Given the description of an element on the screen output the (x, y) to click on. 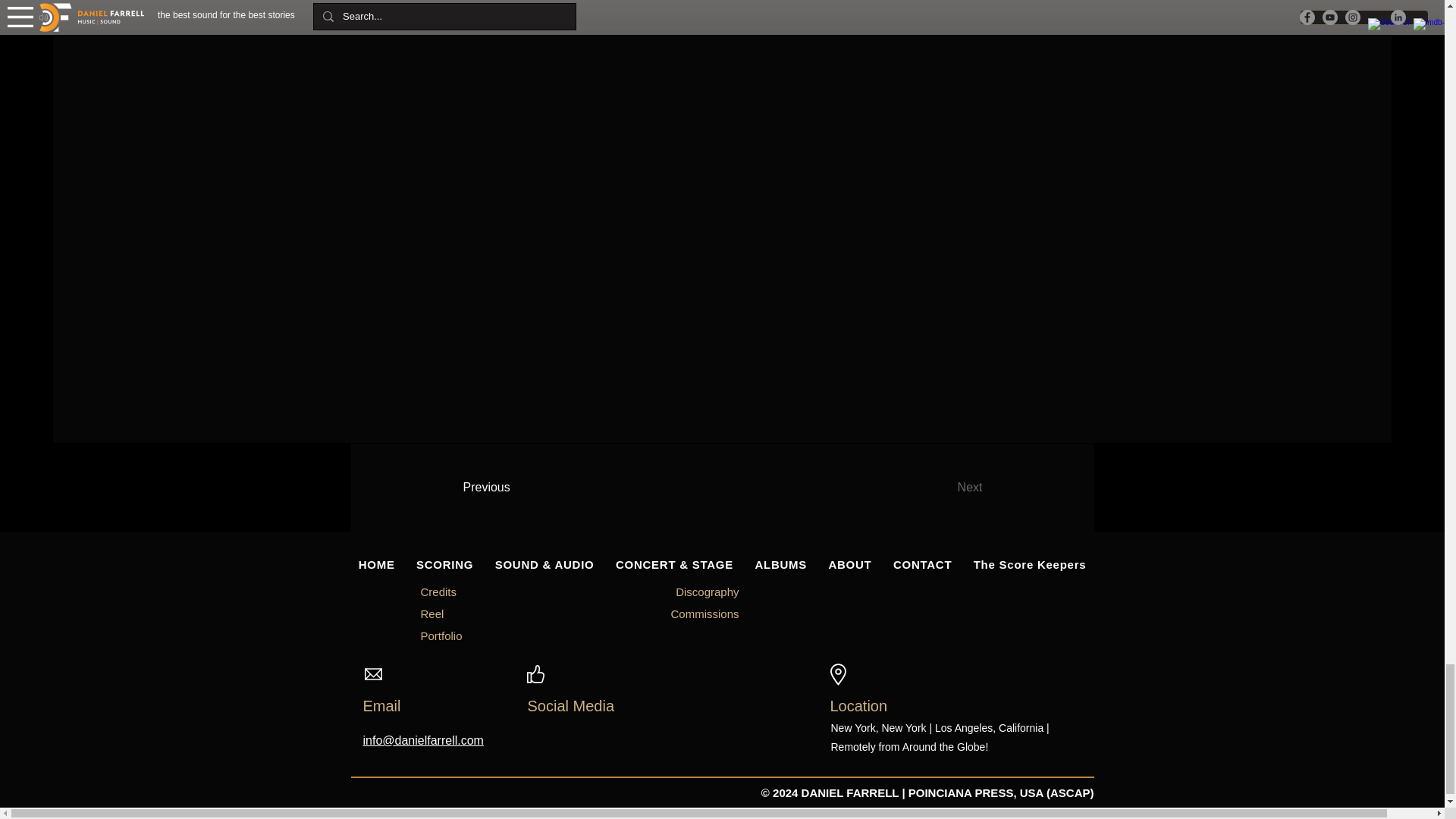
SCORING (445, 564)
The Score Keepers (1030, 564)
ALBUMS (779, 564)
HOME (375, 564)
Next (930, 487)
ABOUT (850, 564)
Portfolio (440, 635)
Credits (438, 591)
Previous (524, 487)
Commissions (703, 613)
Reel (432, 613)
Discography (706, 591)
CONTACT (922, 564)
